Given the description of an element on the screen output the (x, y) to click on. 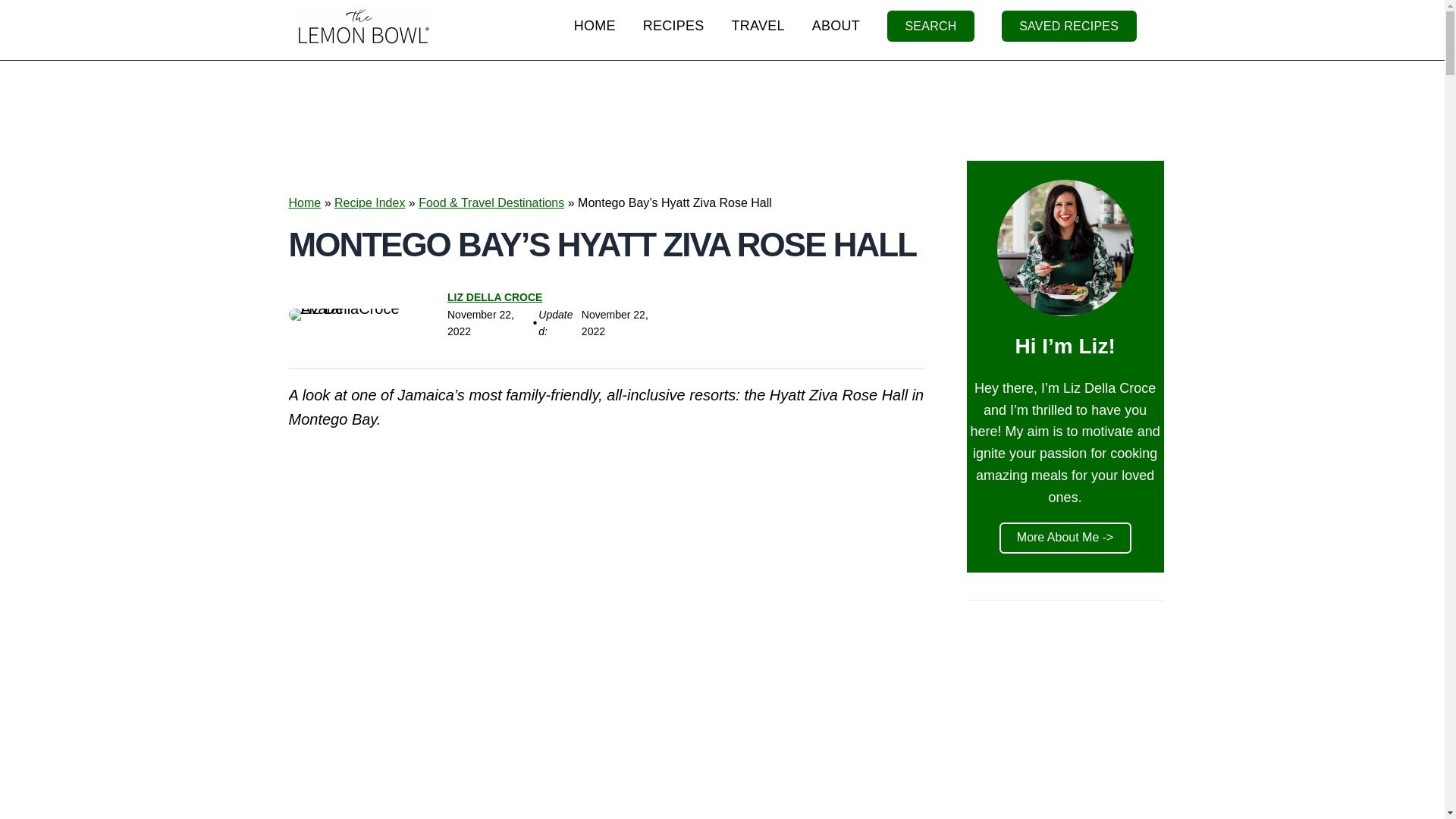
ABOUT (836, 25)
Home (304, 202)
LIZ DELLA CROCE (493, 297)
SAVED RECIPES (1069, 25)
Recipe Index (369, 202)
TRAVEL (758, 25)
SEARCH (930, 25)
Homepage (594, 25)
RECIPES (673, 25)
About Liz (836, 25)
